Given the description of an element on the screen output the (x, y) to click on. 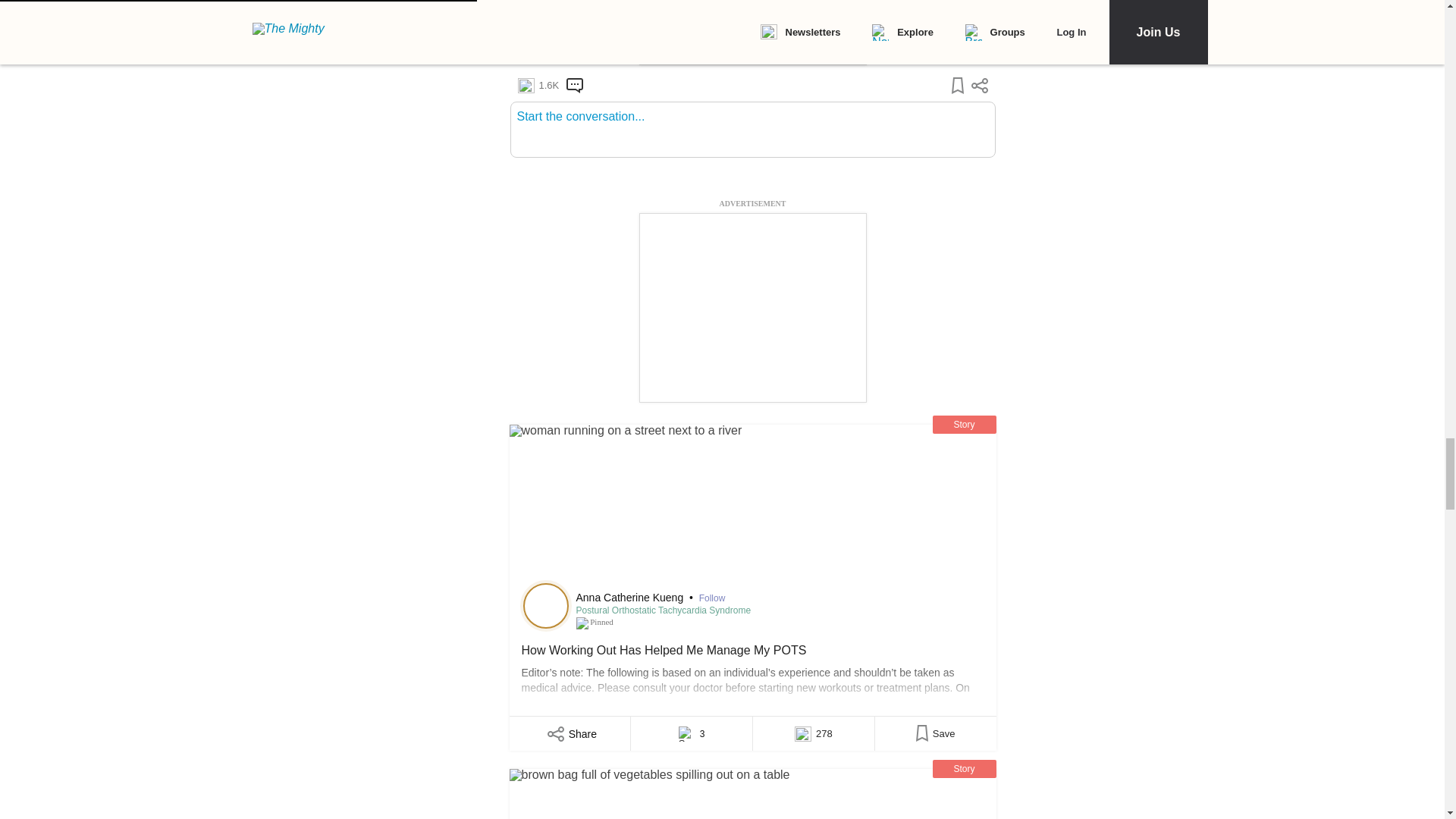
How Going Gluten- and Dairy-Free Is Helping My POTS (752, 794)
How Working Out Has Helped Me Manage My POTS (752, 671)
Visit Anna Catherine Kueng's profile (545, 605)
1.6K (537, 85)
How Working Out Has Helped Me Manage My POTS (752, 506)
